Given the description of an element on the screen output the (x, y) to click on. 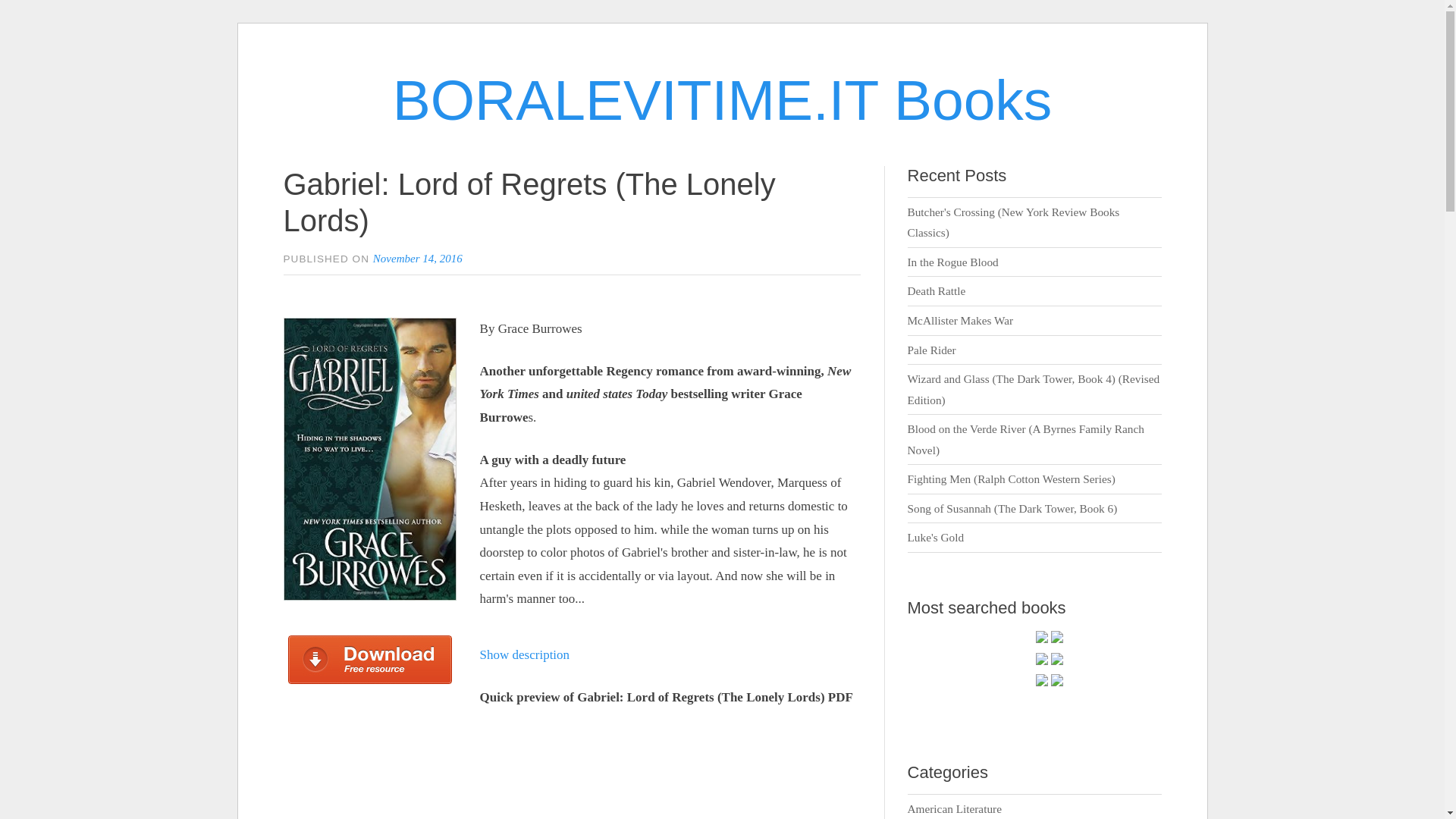
McAllister Makes War (960, 319)
Luke's Gold (935, 536)
BORALEVITIME.IT Books (722, 99)
Death Rattle (936, 290)
Heart of the Enlightened (1056, 640)
November 14, 2016 (417, 257)
Show description (525, 654)
The House of Rumour: A Novel by Jake Arnott (1056, 662)
In the Rogue Blood (952, 261)
Pale Rider (931, 349)
